Given the description of an element on the screen output the (x, y) to click on. 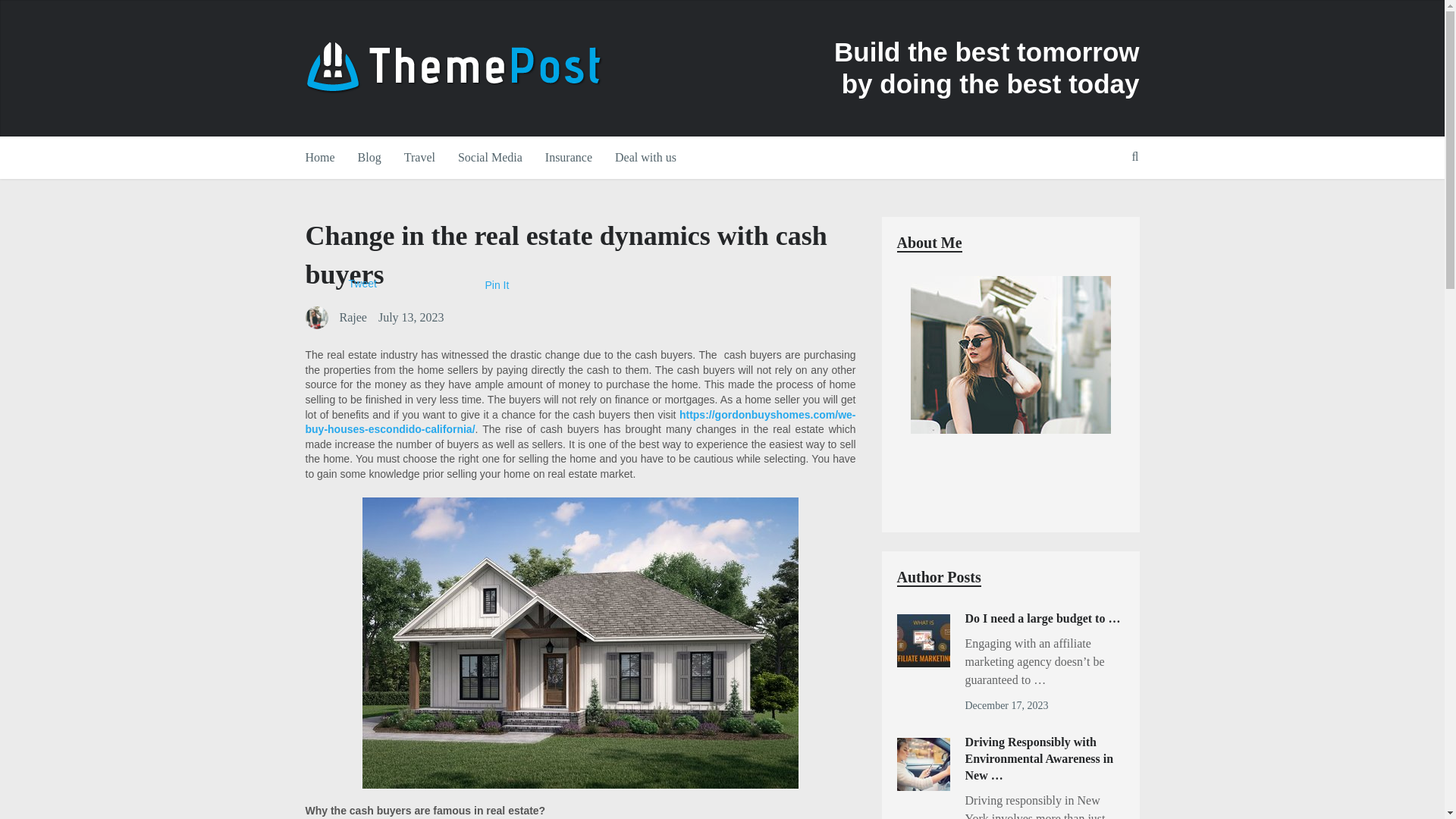
Insurance (569, 157)
Pin It (496, 285)
Tweet (363, 283)
Deal with us (645, 157)
Social Media (490, 157)
Blog (369, 157)
Home (325, 157)
Travel (419, 157)
